Given the description of an element on the screen output the (x, y) to click on. 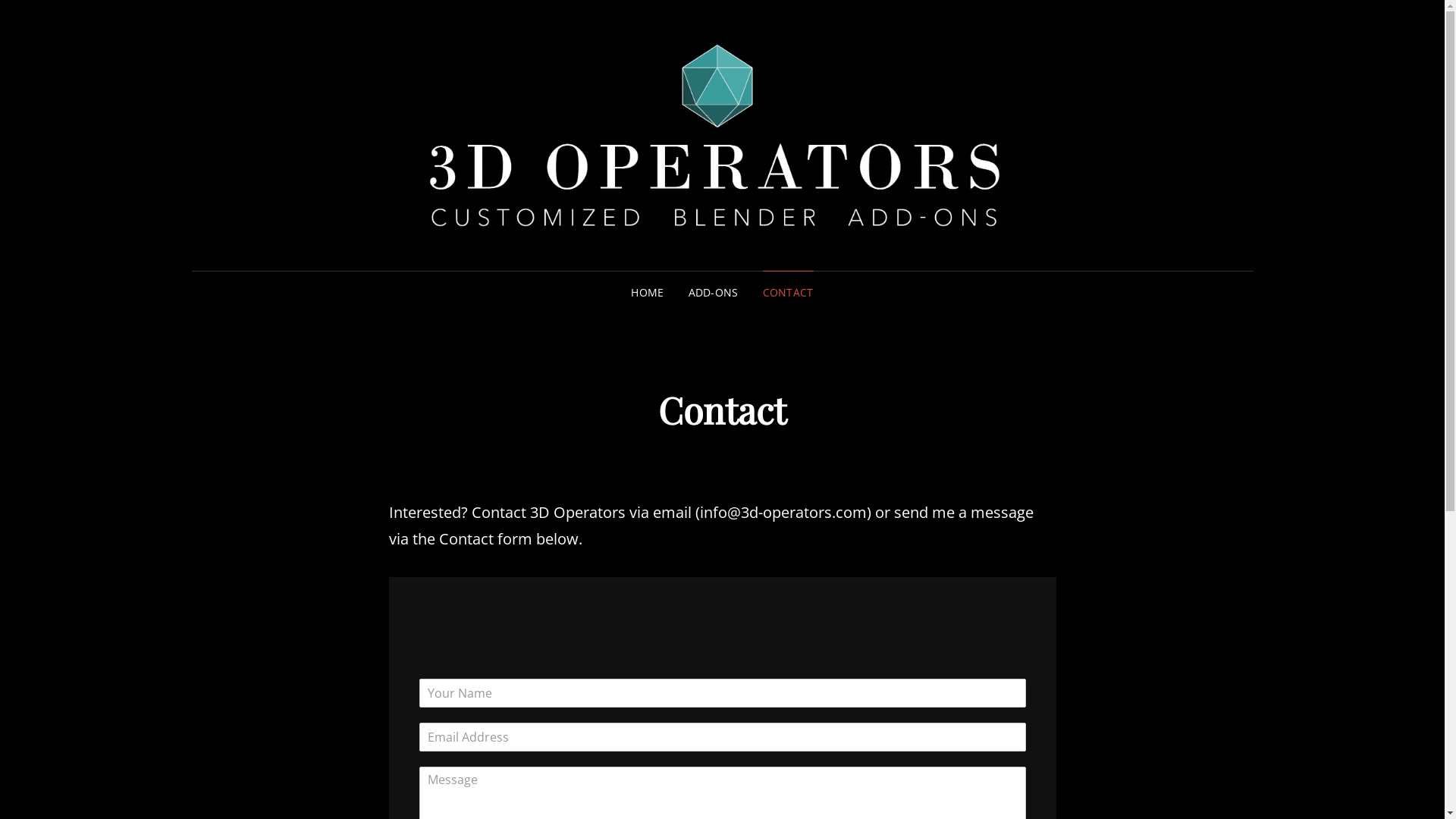
3D OPERATORS Element type: text (1189, 156)
CONTACT Element type: text (787, 292)
HOME Element type: text (646, 292)
ADD-ONS Element type: text (713, 292)
